Given the description of an element on the screen output the (x, y) to click on. 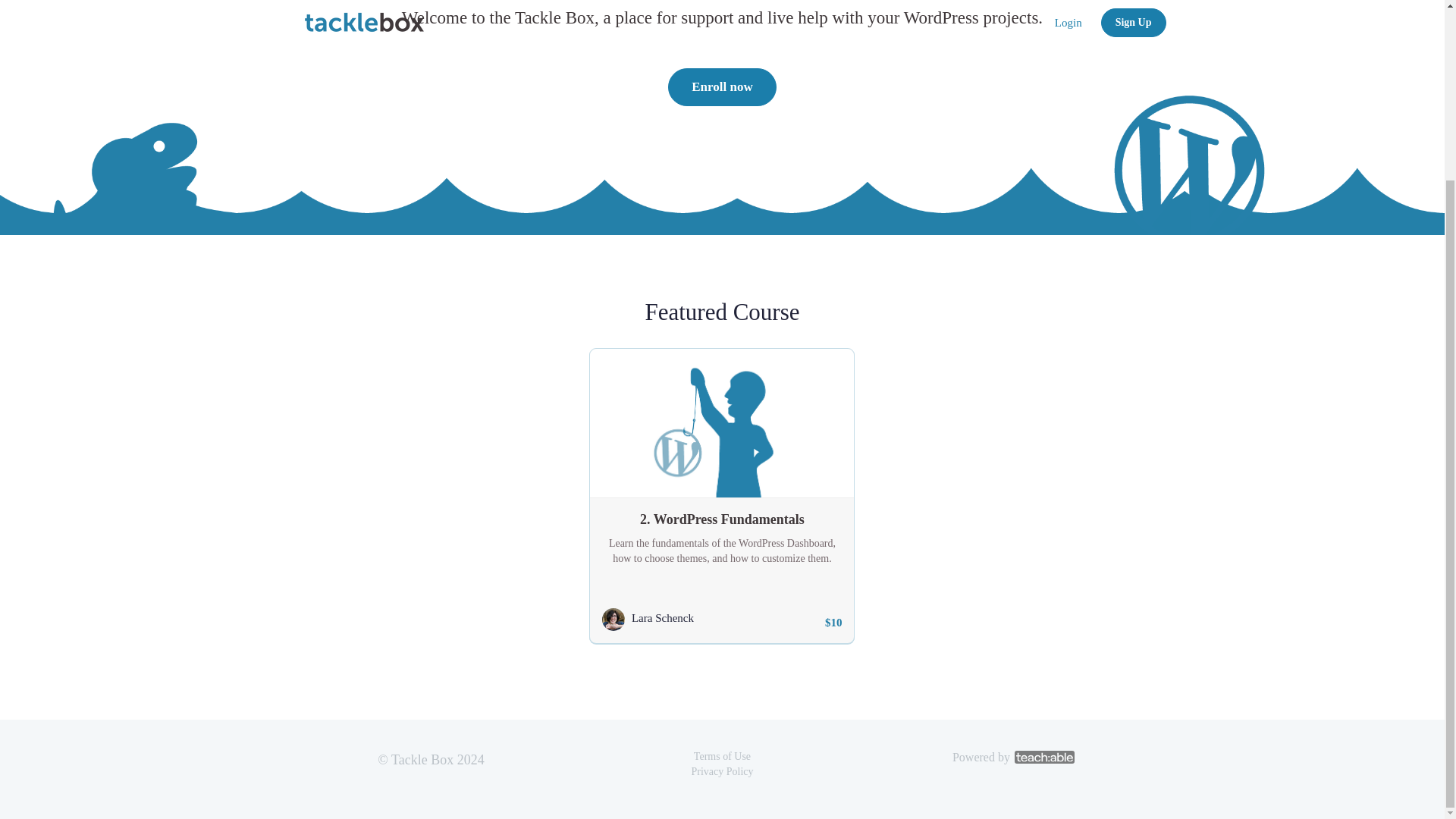
2. WordPress Fundamentals (721, 514)
Terms of Use (722, 756)
Privacy Policy (721, 771)
Enroll now (722, 86)
Powered by (1013, 757)
